Given the description of an element on the screen output the (x, y) to click on. 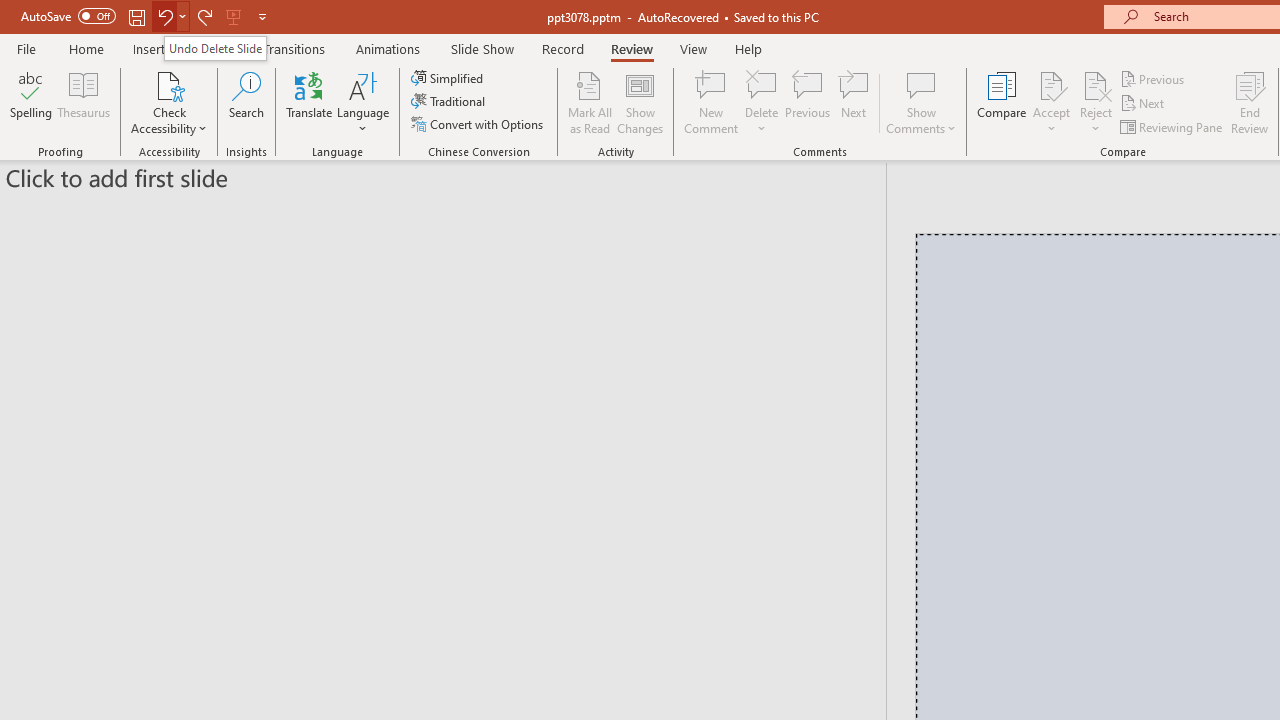
Accept Change (1051, 84)
Mark All as Read (589, 102)
Reject (1096, 102)
Show Changes (639, 102)
Accept (1051, 102)
